Given the description of an element on the screen output the (x, y) to click on. 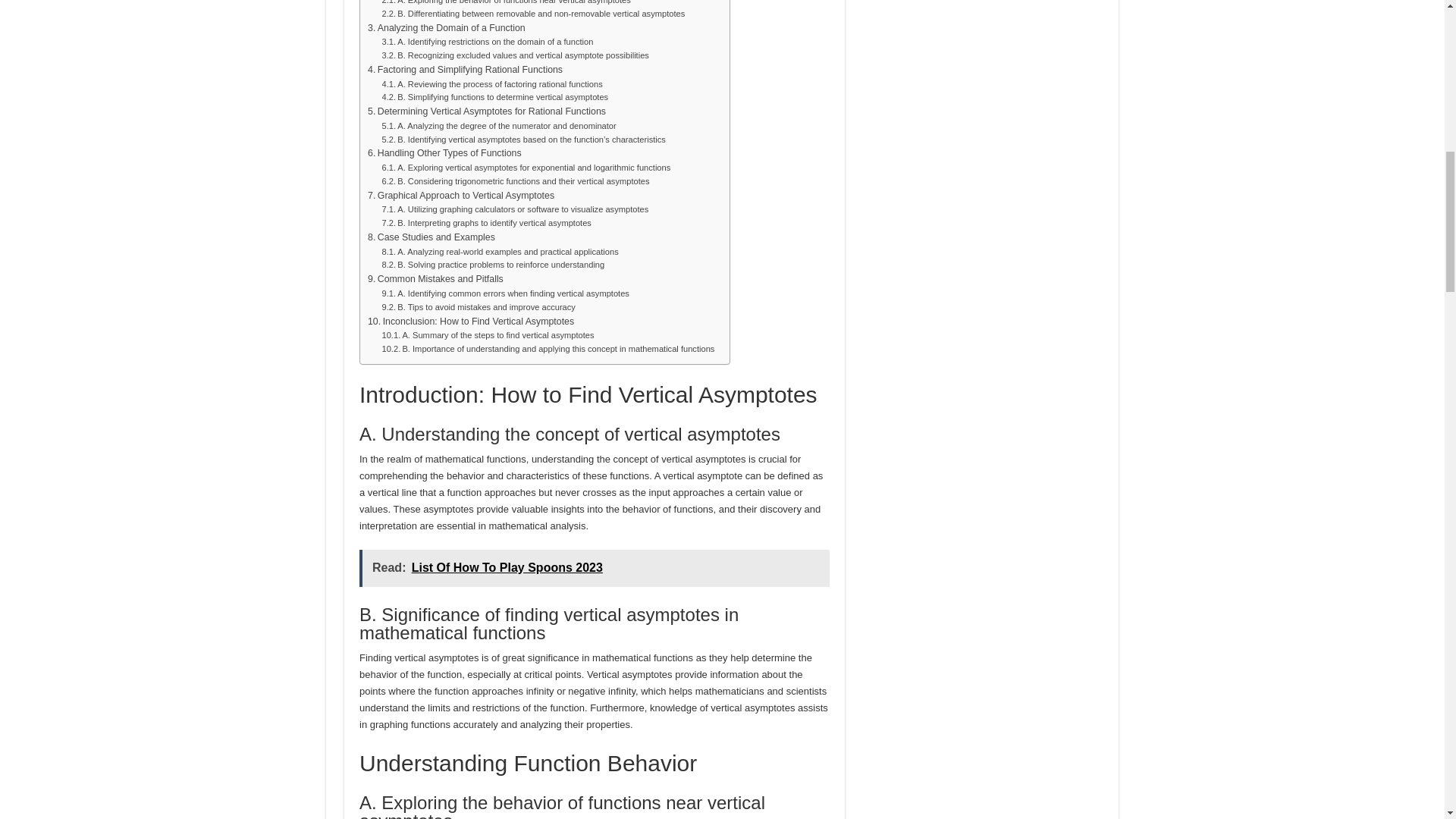
Handling Other Types of Functions (444, 153)
A. Analyzing the degree of the numerator and denominator (498, 126)
B. Simplifying functions to determine vertical asymptotes (494, 97)
Analyzing the Domain of a Function (446, 28)
Determining Vertical Asymptotes for Rational Functions (486, 111)
A. Reviewing the process of factoring rational functions (491, 84)
A. Identifying restrictions on the domain of a function (487, 42)
Factoring and Simplifying Rational Functions (465, 70)
